Given the description of an element on the screen output the (x, y) to click on. 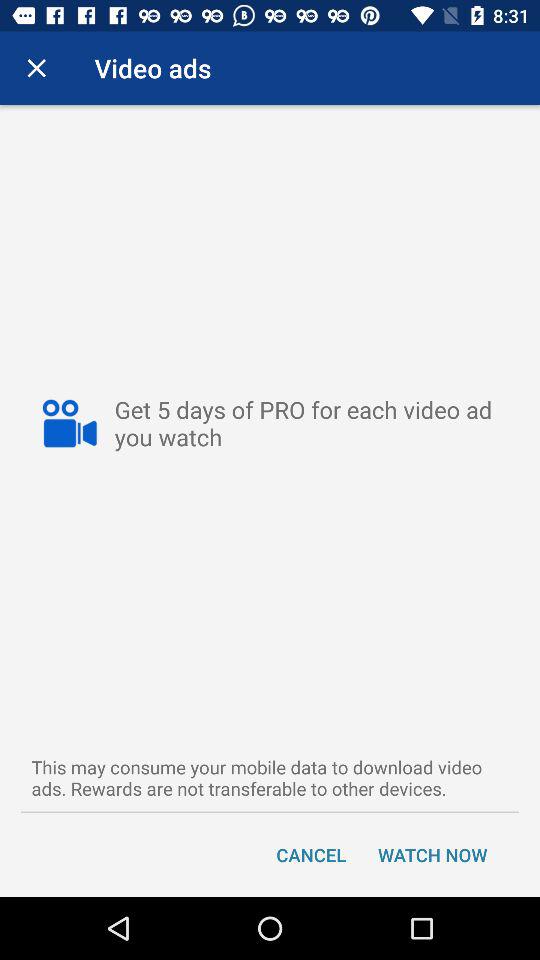
scroll until watch now item (432, 854)
